Given the description of an element on the screen output the (x, y) to click on. 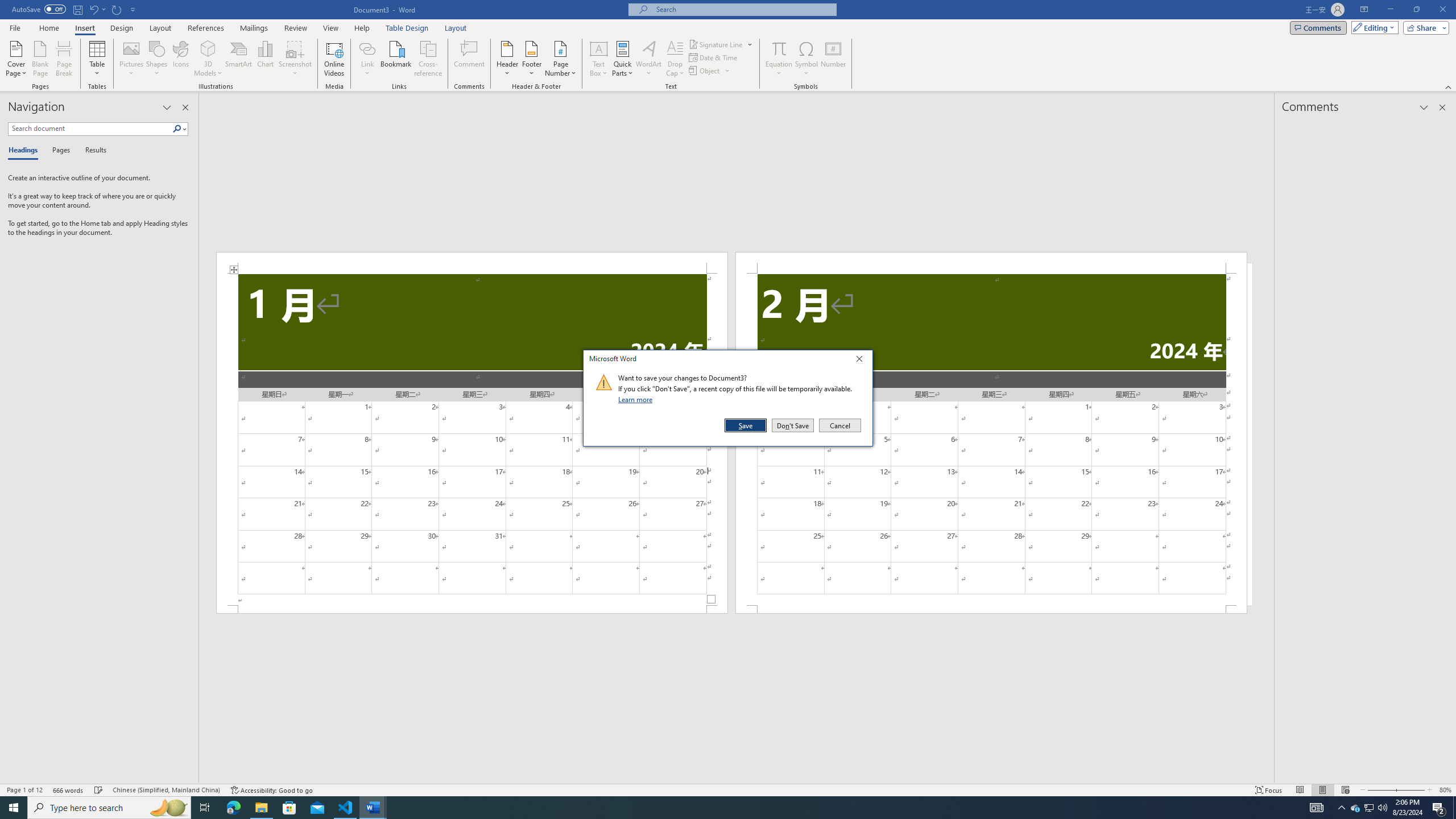
Q2790: 100% (1382, 807)
Visual Studio Code - 1 running window (345, 807)
Notification Chevron (1341, 807)
User Promoted Notification Area (1368, 807)
Online Videos... (333, 58)
Shapes (156, 58)
Footer -Section 2- (991, 609)
Type here to search (108, 807)
Show desktop (1454, 807)
